Given the description of an element on the screen output the (x, y) to click on. 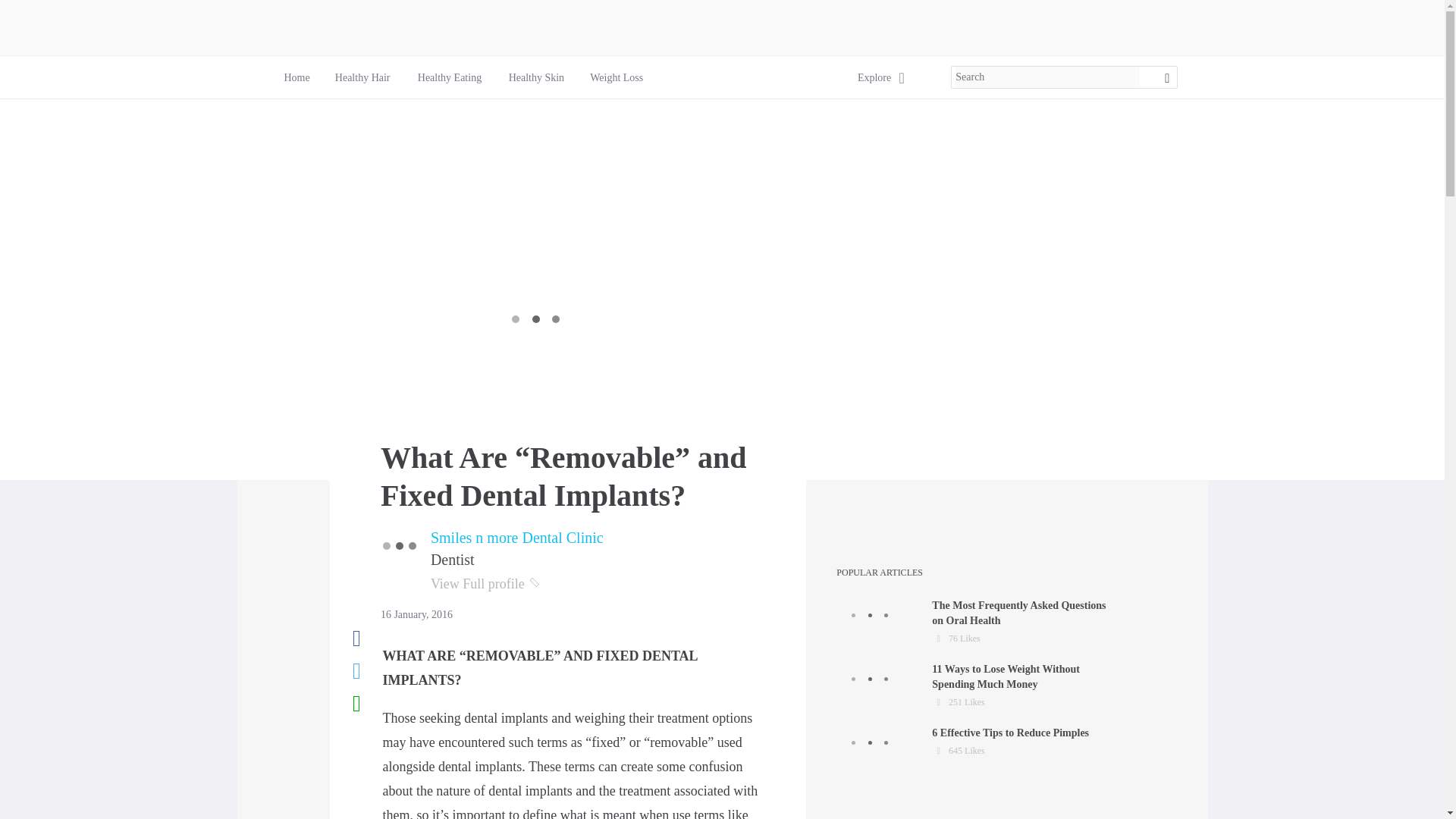
Explore (977, 686)
Home (977, 622)
Smiles n more Dental Clinic (874, 77)
Healthy Hair (295, 77)
Healthy Skin (977, 750)
Healthy Eating (517, 537)
Weight Loss (362, 77)
